Given the description of an element on the screen output the (x, y) to click on. 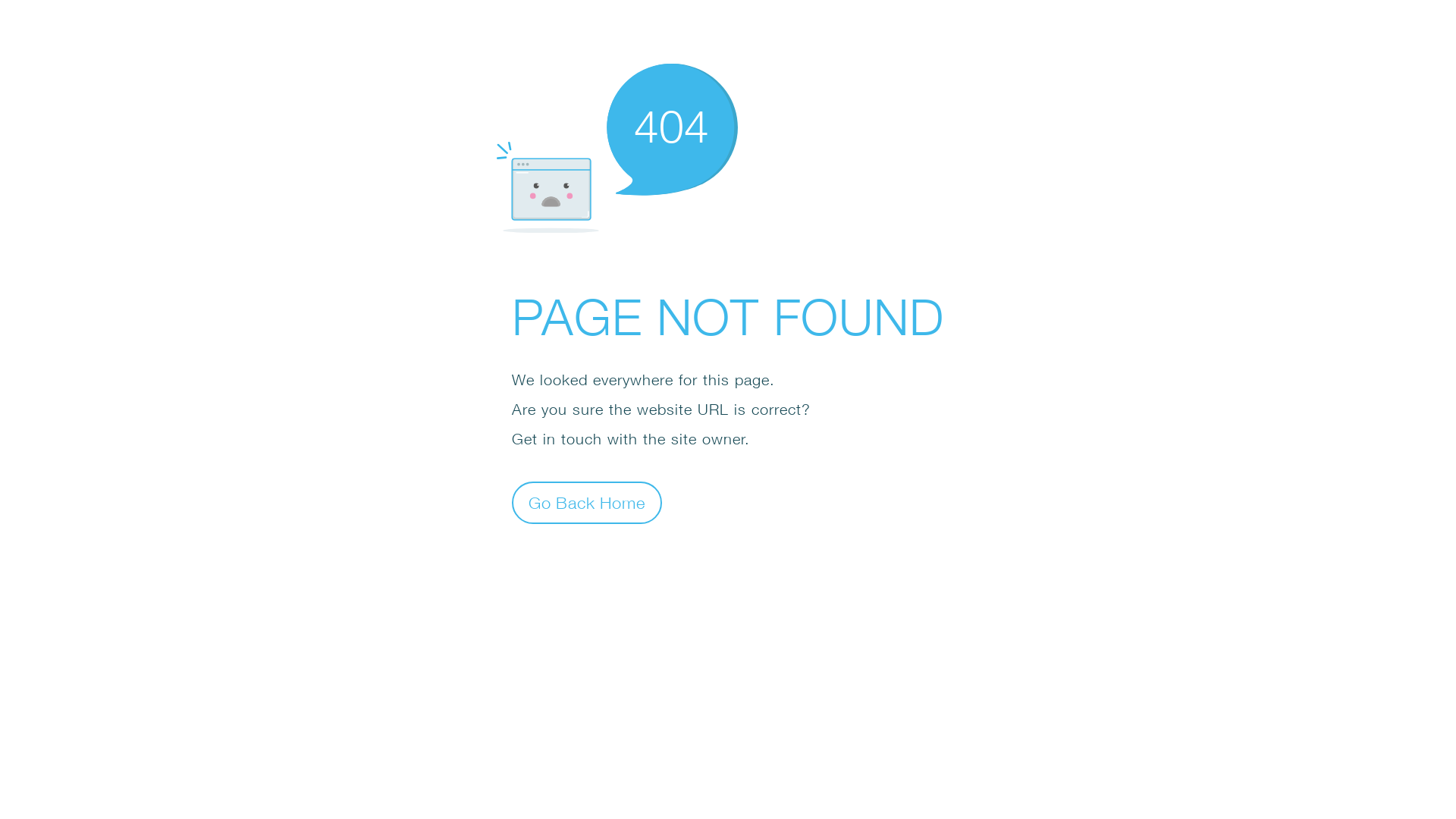
Go Back Home Element type: text (586, 502)
